Given the description of an element on the screen output the (x, y) to click on. 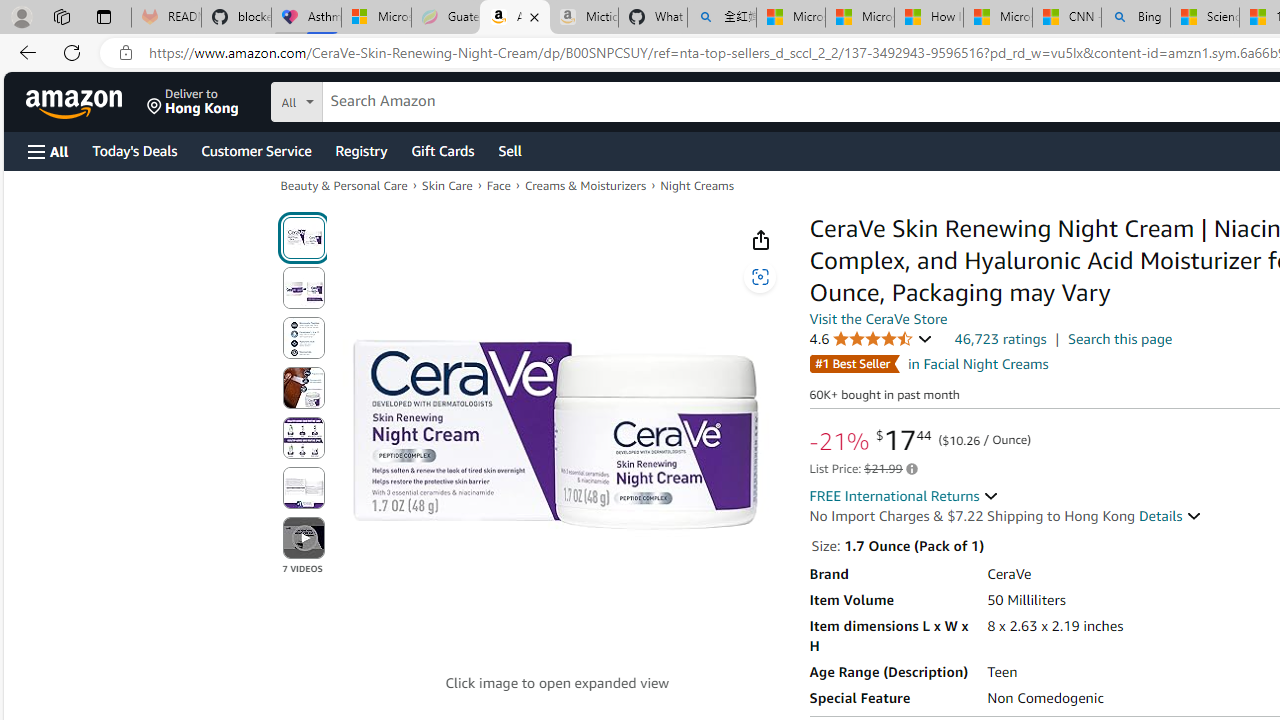
#1 Best Seller in Facial Night Creams (928, 363)
Creams & Moisturizers (584, 184)
Share (760, 240)
Skin Care (447, 185)
Deliver to Hong Kong (193, 101)
Face (498, 185)
FREE International Returns  (903, 496)
